Given the description of an element on the screen output the (x, y) to click on. 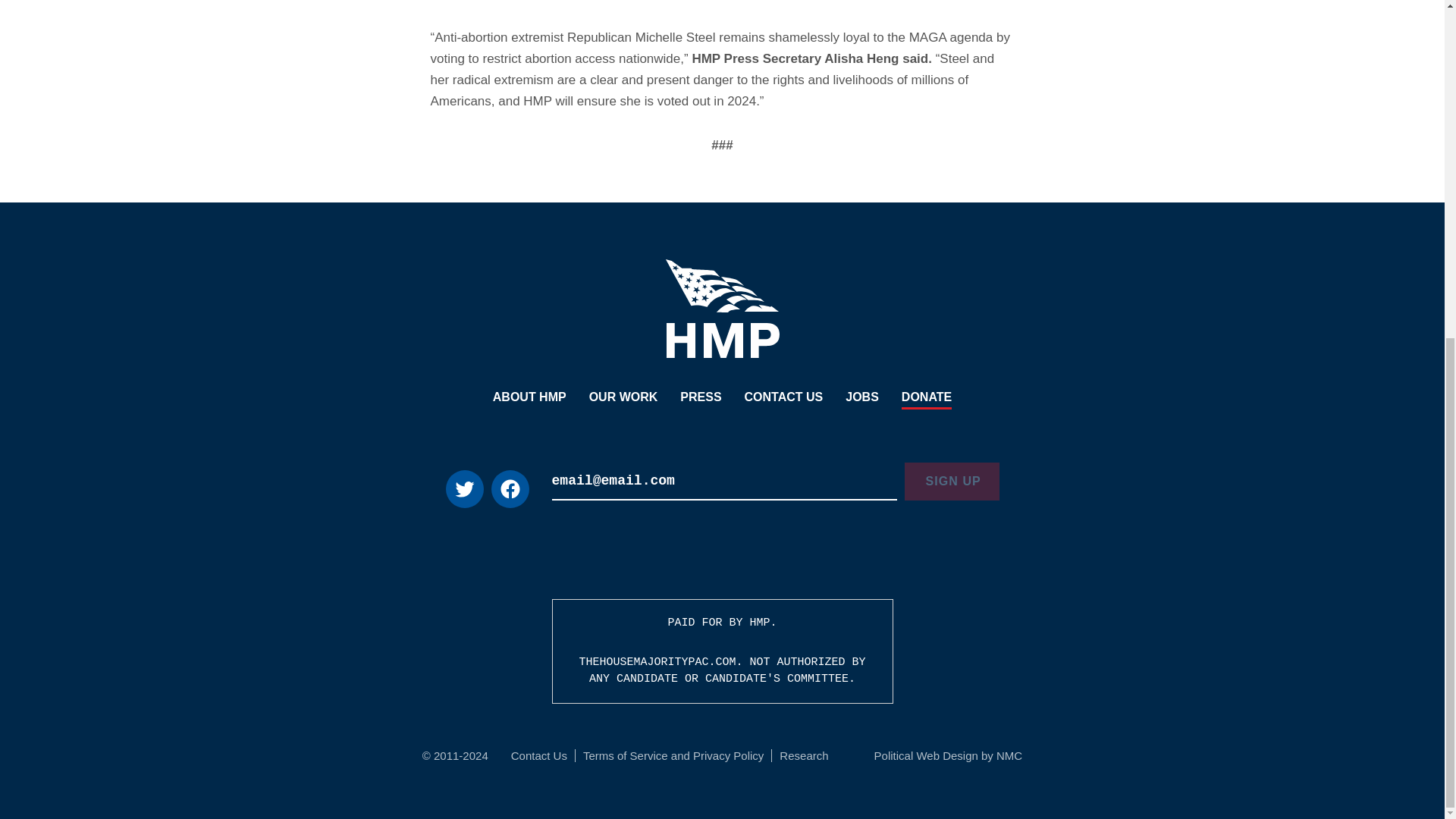
Contact Us (539, 755)
Political Web Design (926, 755)
ABOUT HMP (529, 398)
CONTACT US (784, 398)
JOBS (862, 398)
DONATE (926, 398)
Terms of Service and Privacy Policy (672, 755)
PRESS (699, 398)
OUR WORK (623, 398)
Sign Up (951, 481)
Research (803, 755)
Sign Up (951, 481)
